Given the description of an element on the screen output the (x, y) to click on. 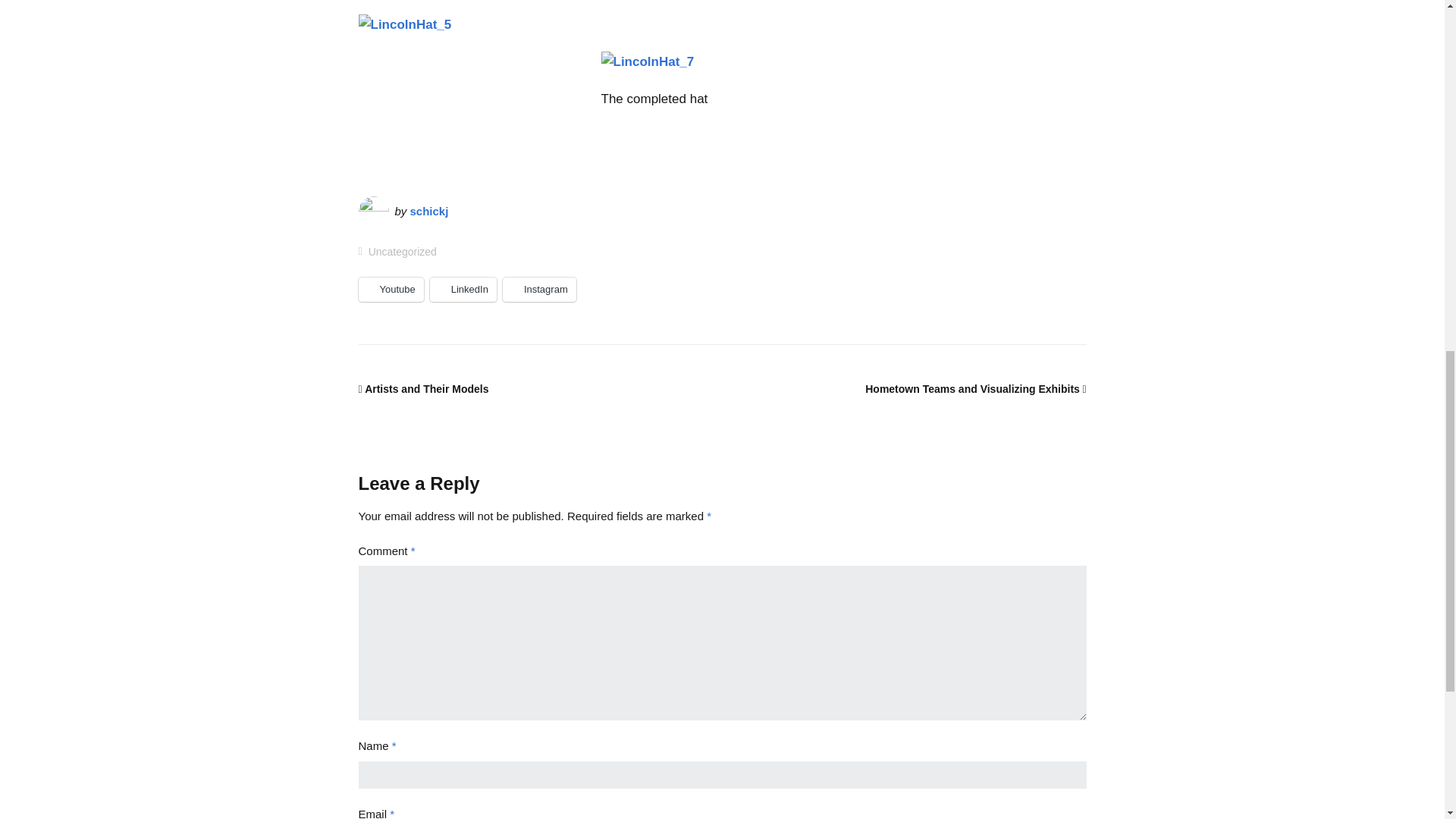
LinkedIn (462, 289)
Artists and Their Models (422, 388)
Hometown Teams and Visualizing Exhibits (975, 388)
Instagram (539, 289)
schickj (429, 210)
Click to share on LinkedIn (462, 289)
Youtube (390, 289)
Uncategorized (402, 251)
Click to share on Youtube (390, 289)
Click to share on Instagram (539, 289)
